Given the description of an element on the screen output the (x, y) to click on. 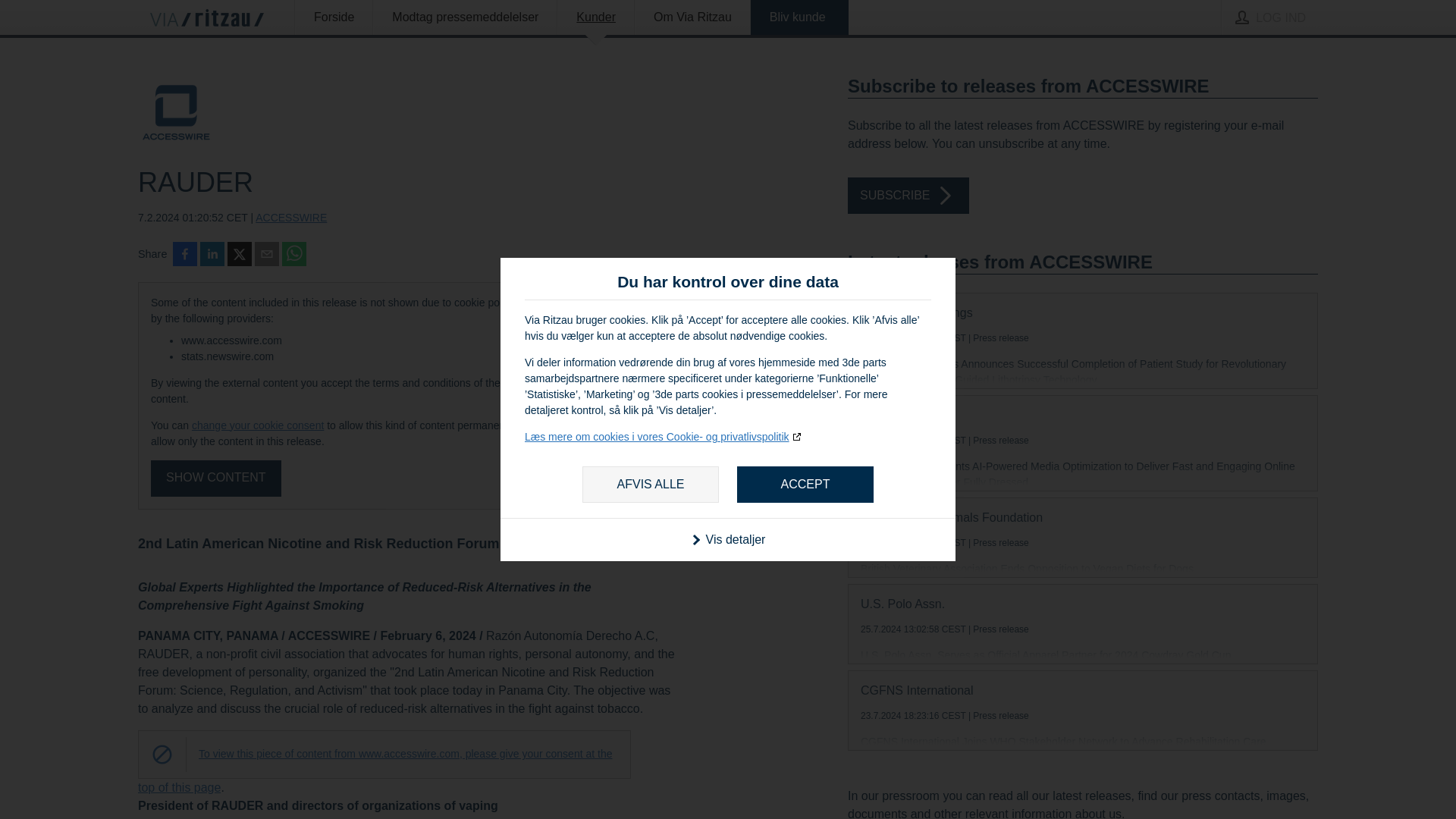
Vis detaljer (727, 539)
Modtag pressemeddelelser (465, 17)
AFVIS ALLE (650, 484)
Om Via Ritzau (691, 17)
ACCEPT (804, 484)
Kunder (595, 17)
Forside (333, 17)
